Given the description of an element on the screen output the (x, y) to click on. 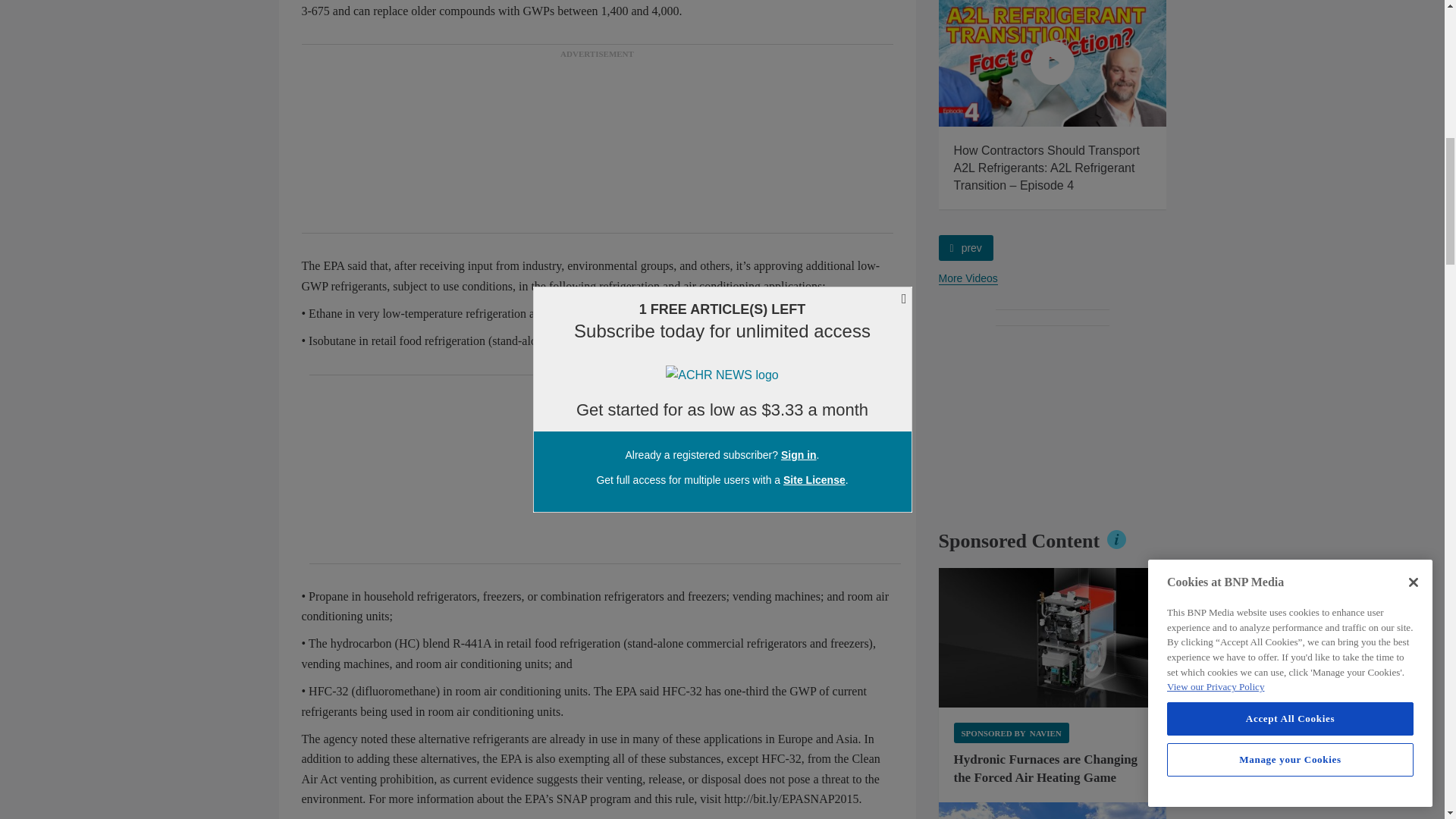
Texas Frio Cold Storage (1052, 810)
Hydronic Forced Air Furnace Diagram (1052, 637)
Sponsored by Navien (1010, 732)
